Given the description of an element on the screen output the (x, y) to click on. 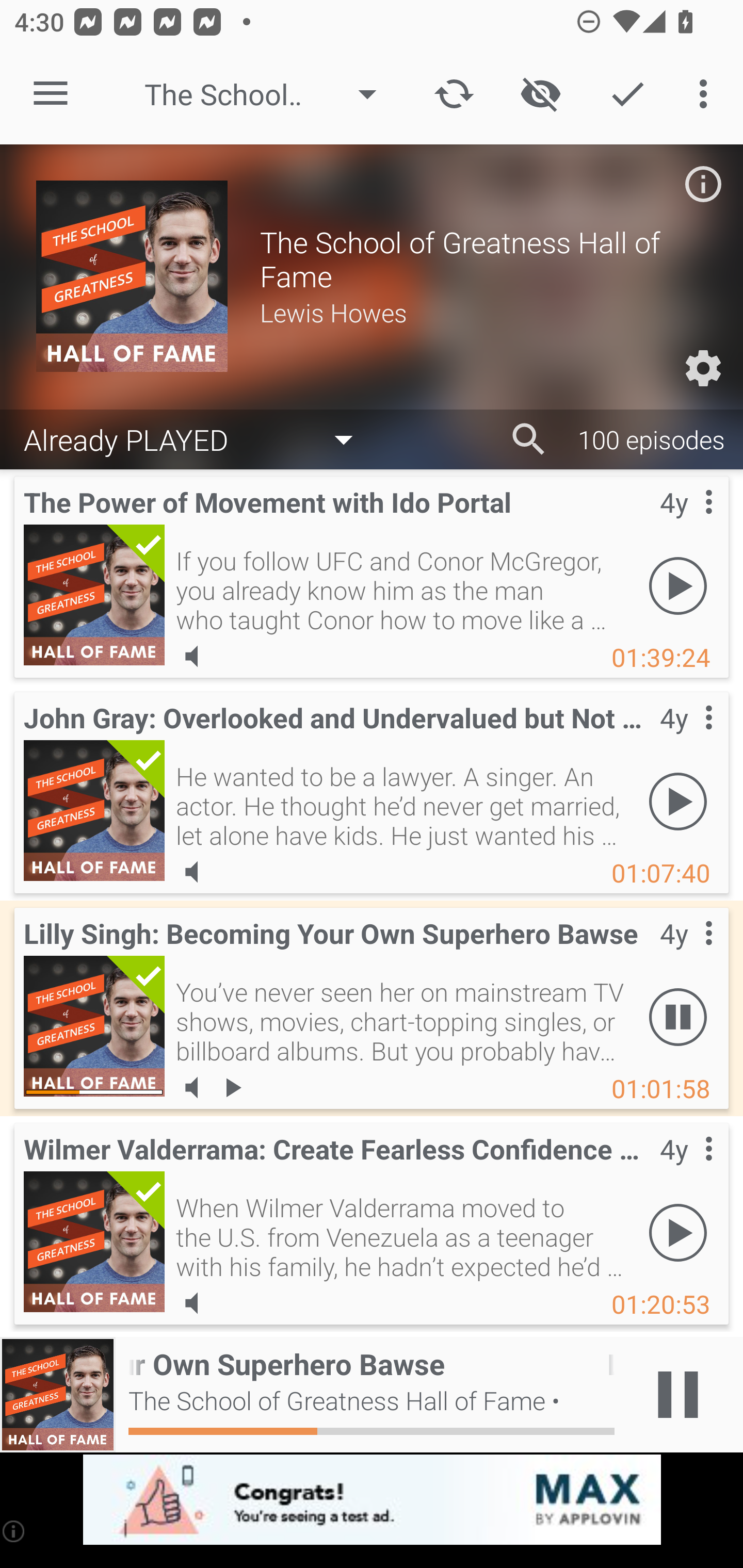
Open navigation sidebar (50, 93)
Update (453, 93)
Show / Hide played content (540, 93)
Action Mode (626, 93)
More options (706, 93)
The School of Greatness Hall of Fame (270, 94)
Podcast description (703, 184)
Lewis Howes (483, 311)
Custom Settings (703, 368)
Search (528, 439)
Already PLAYED (197, 438)
Contextual menu (685, 522)
The Power of Movement with Ido Portal (93, 594)
Play (677, 585)
Contextual menu (685, 738)
Play (677, 801)
Contextual menu (685, 954)
Lilly Singh: Becoming Your Own Superhero Bawse (93, 1026)
Pause (677, 1016)
Contextual menu (685, 1169)
Play (677, 1232)
Play / Pause (677, 1394)
app-monetization (371, 1500)
(i) (14, 1531)
